Given the description of an element on the screen output the (x, y) to click on. 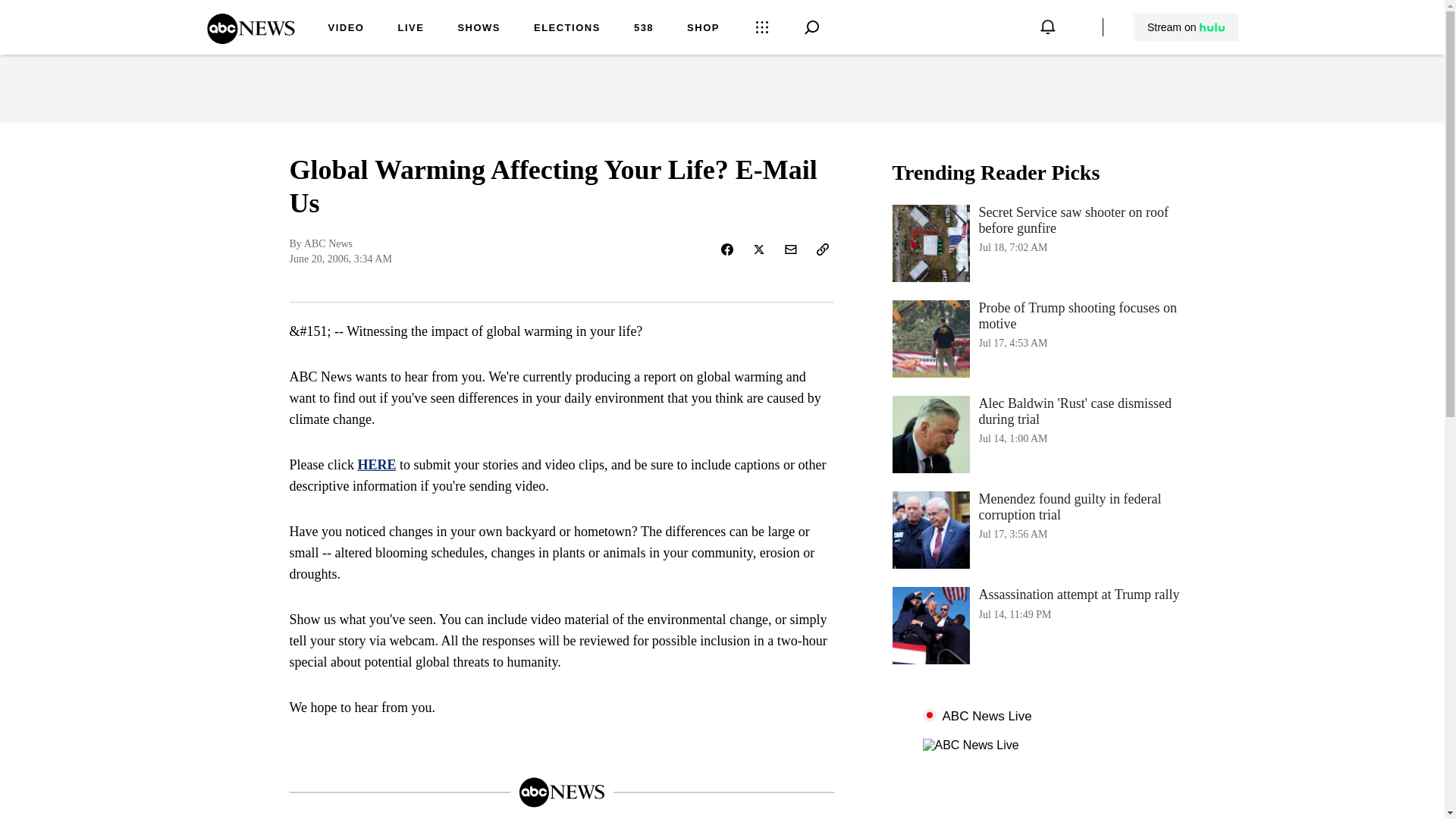
LIVE (1043, 625)
538 (410, 28)
SHOP (643, 28)
Stream on (703, 28)
Stream on (1043, 338)
ABC News (1186, 26)
ELECTIONS (1185, 27)
HERE (250, 38)
VIDEO (566, 28)
SHOWS (376, 464)
